Given the description of an element on the screen output the (x, y) to click on. 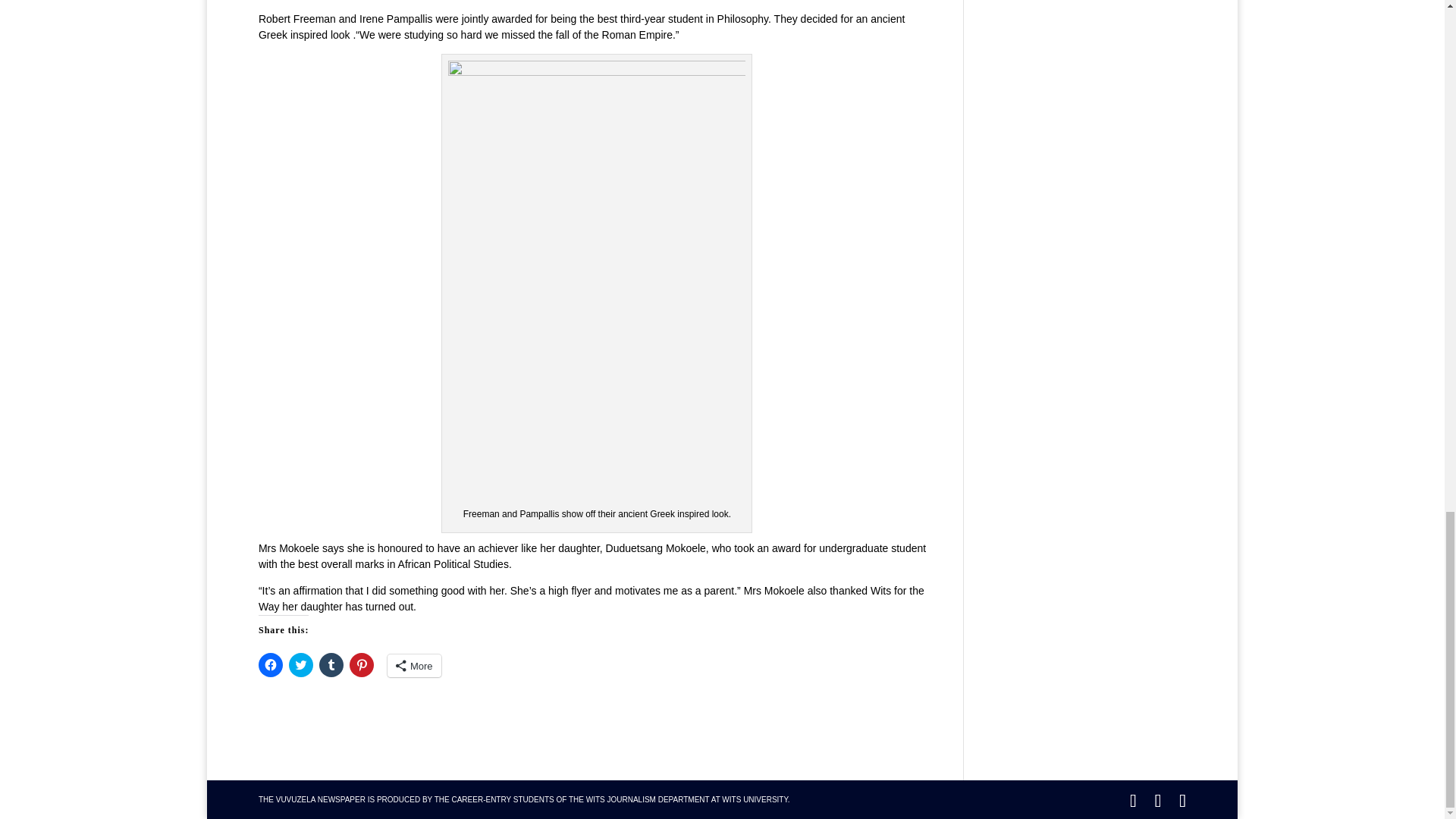
Click to share on Tumblr (330, 664)
Click to share on Pinterest (361, 664)
More (414, 665)
Click to share on Twitter (300, 664)
Click to share on Facebook (270, 664)
